Given the description of an element on the screen output the (x, y) to click on. 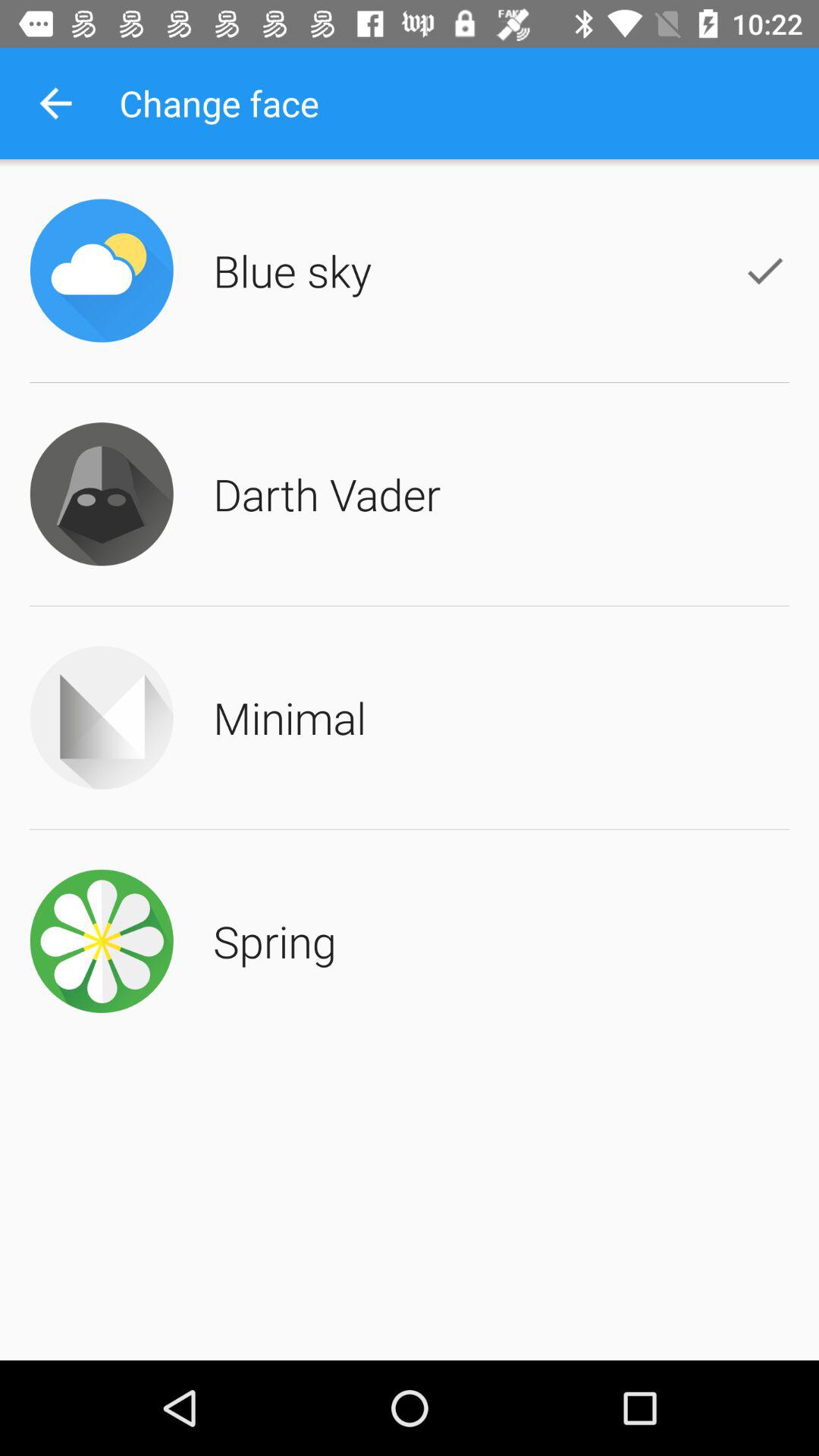
turn on the blue sky item (292, 270)
